Given the description of an element on the screen output the (x, y) to click on. 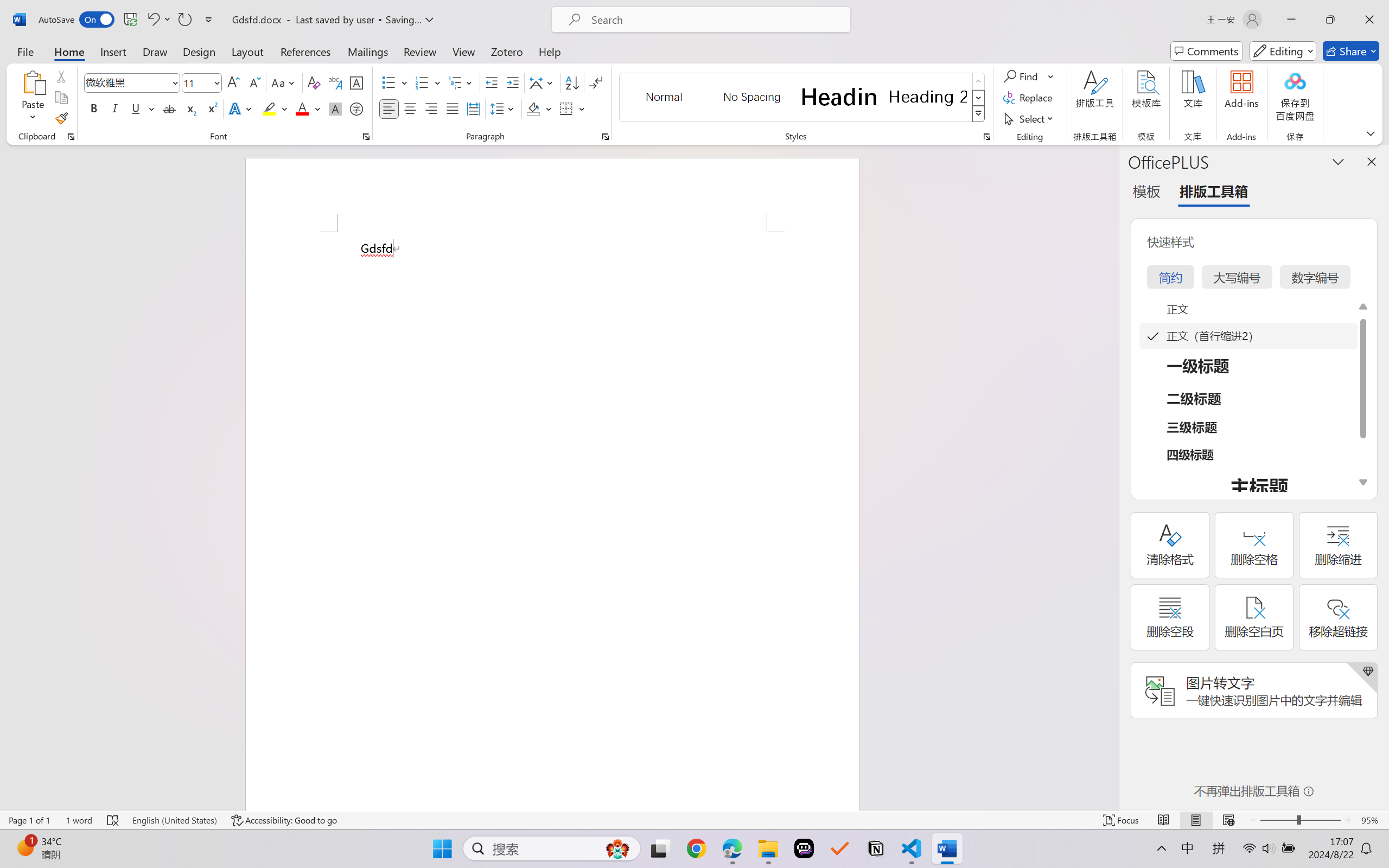
Spelling and Grammar Check Errors (113, 819)
AutomationID: QuickStylesGallery (802, 97)
